Given the description of an element on the screen output the (x, y) to click on. 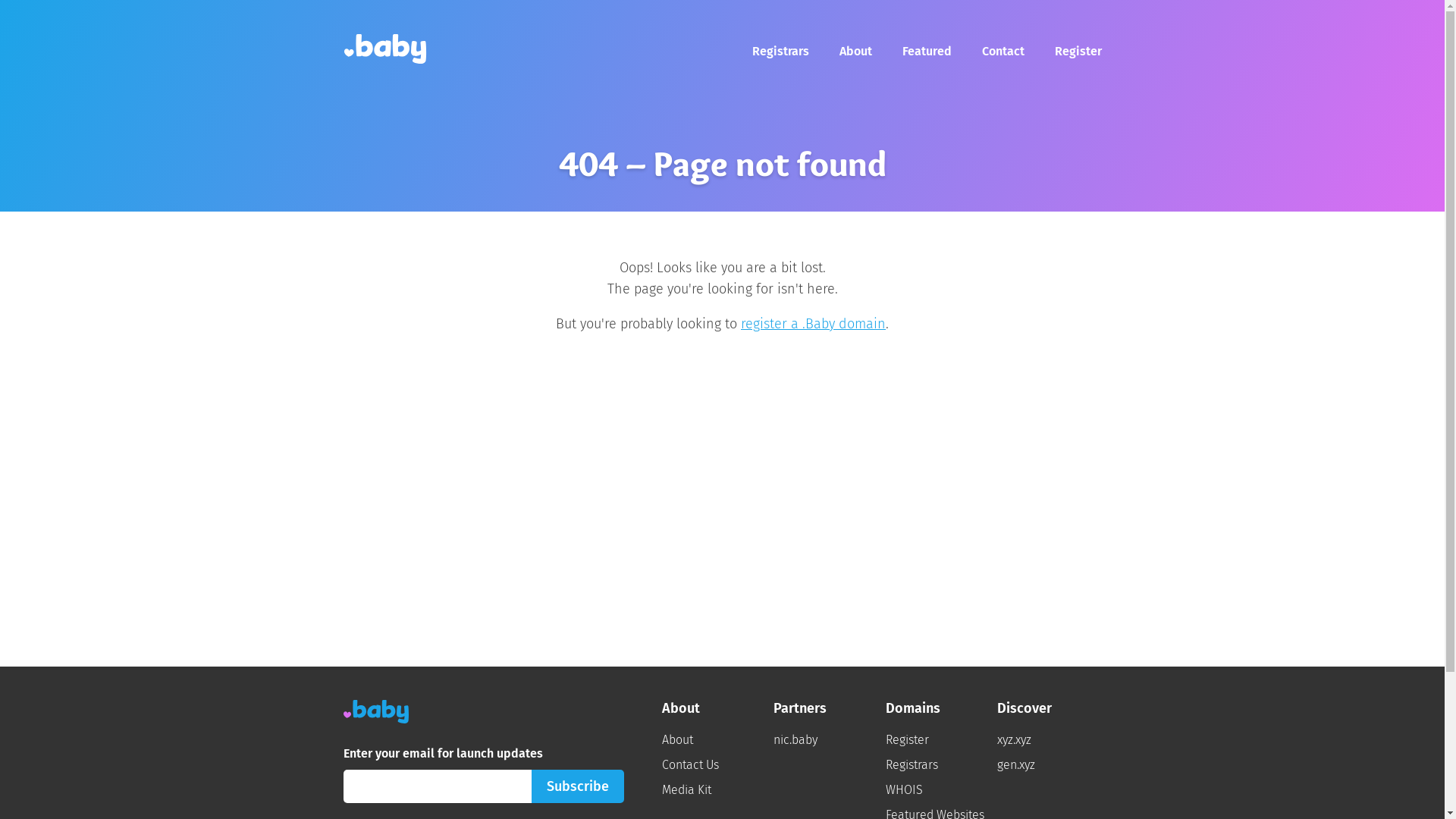
Registrars Element type: text (780, 50)
Contact Us Element type: text (689, 764)
gen.xyz Element type: text (1023, 764)
Media Kit Element type: text (693, 789)
.Baby Element type: hover (384, 48)
Subscribe Element type: text (576, 786)
Register Element type: text (906, 739)
.Baby Element type: hover (374, 711)
register a .Baby domain Element type: text (812, 323)
Registrars Element type: text (911, 764)
WHOIS Element type: text (911, 789)
About Element type: text (676, 739)
Featured Element type: text (926, 50)
Contact Element type: text (1002, 50)
nic.baby Element type: text (802, 739)
Register Element type: text (1077, 50)
xyz.xyz Element type: text (1021, 739)
About Element type: text (854, 50)
